Given the description of an element on the screen output the (x, y) to click on. 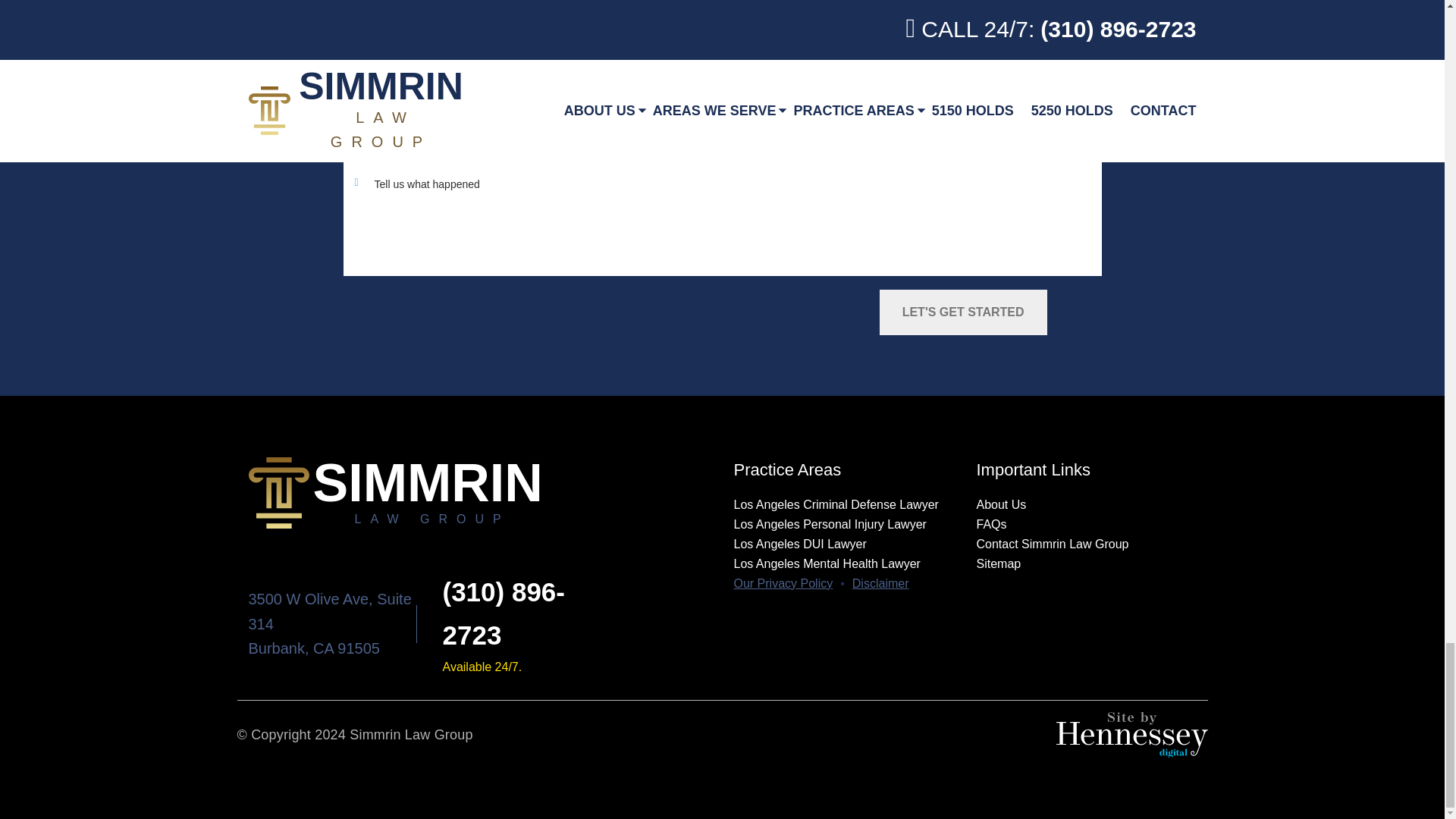
Let's get started (962, 311)
disclaimer (879, 583)
phone (503, 613)
Simmrin Law (479, 492)
our privacy policy (782, 583)
